Given the description of an element on the screen output the (x, y) to click on. 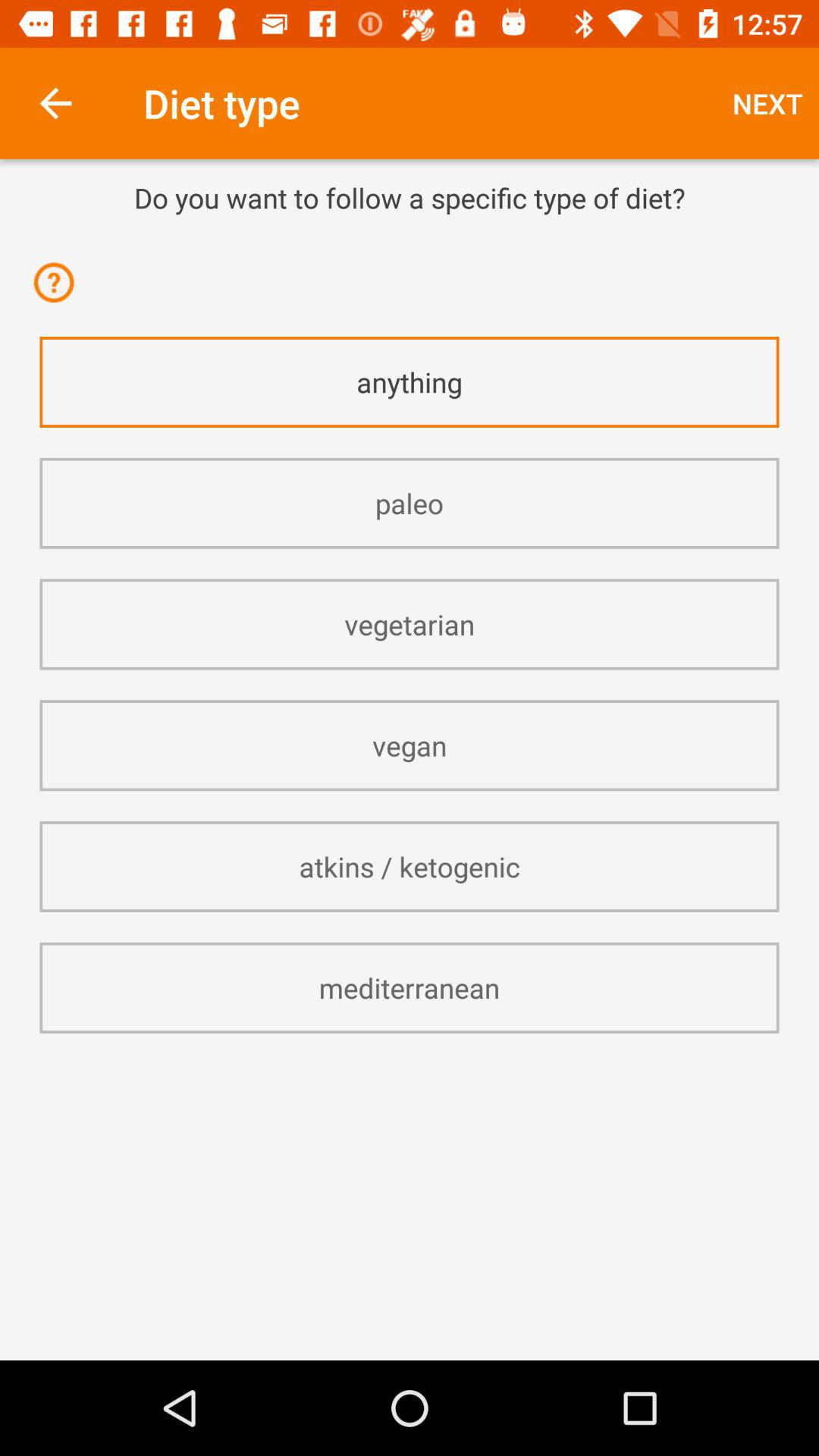
turn off do you want (409, 197)
